Given the description of an element on the screen output the (x, y) to click on. 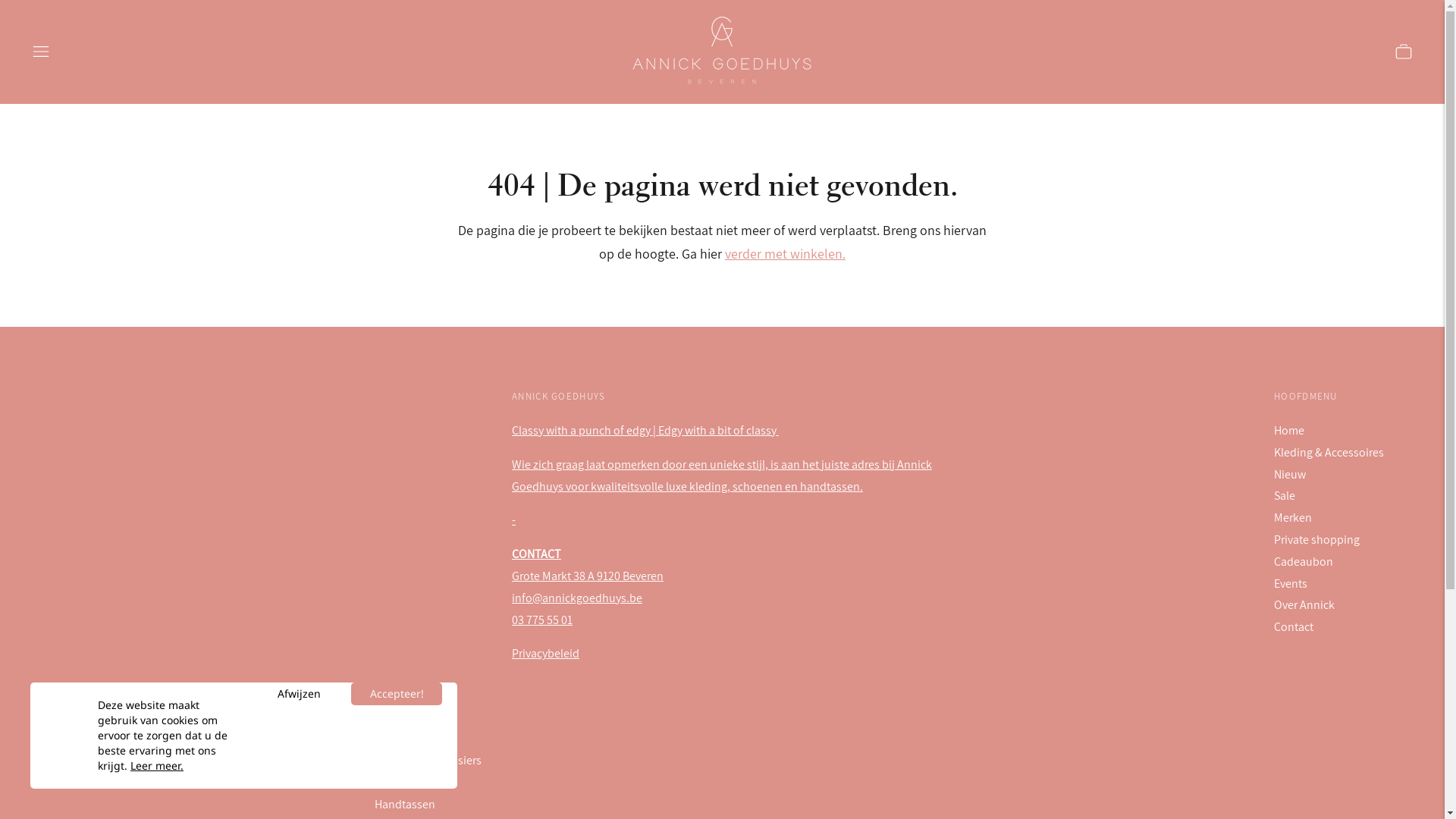
Leer meer. Element type: text (156, 765)
Over Annick Element type: text (1304, 604)
Blouses & chemisiers Element type: text (427, 760)
Broeken Element type: text (395, 782)
Nieuw Element type: text (1289, 474)
Private shopping Element type: text (1316, 539)
Merken Element type: text (1292, 517)
03 775 55 01 Element type: text (541, 619)
ANNICK GOEDHUYS Element type: text (721, 395)
Contact Element type: text (1293, 626)
CONTACT Element type: text (536, 553)
Blazers Element type: text (392, 738)
Privacybeleid Element type: text (545, 653)
Handtassen Element type: text (404, 804)
verder met winkelen. Element type: text (784, 253)
Events Element type: text (1290, 582)
Sale Element type: text (1284, 495)
Grote Markt 38 A 9120 Beveren Element type: text (587, 575)
Kleding & Accessoires Element type: text (1328, 452)
Home Element type: text (1289, 430)
Cadeaubon Element type: text (1303, 561)
info@annickgoedhuys.be Element type: text (576, 597)
